Given the description of an element on the screen output the (x, y) to click on. 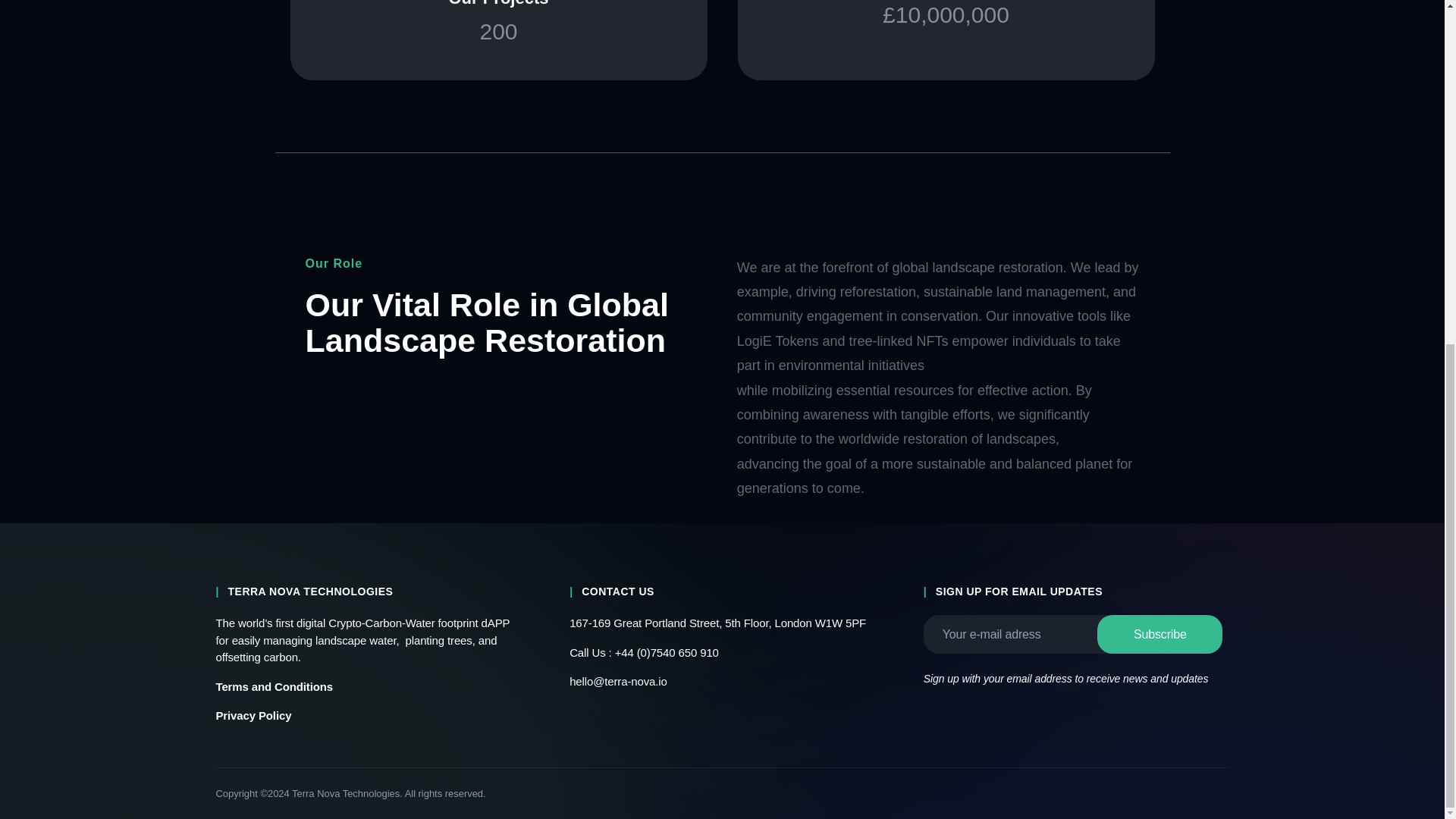
Subscribe (1160, 634)
Privacy Policy (253, 715)
Subscribe (498, 24)
Terms and Conditions (1160, 634)
